Given the description of an element on the screen output the (x, y) to click on. 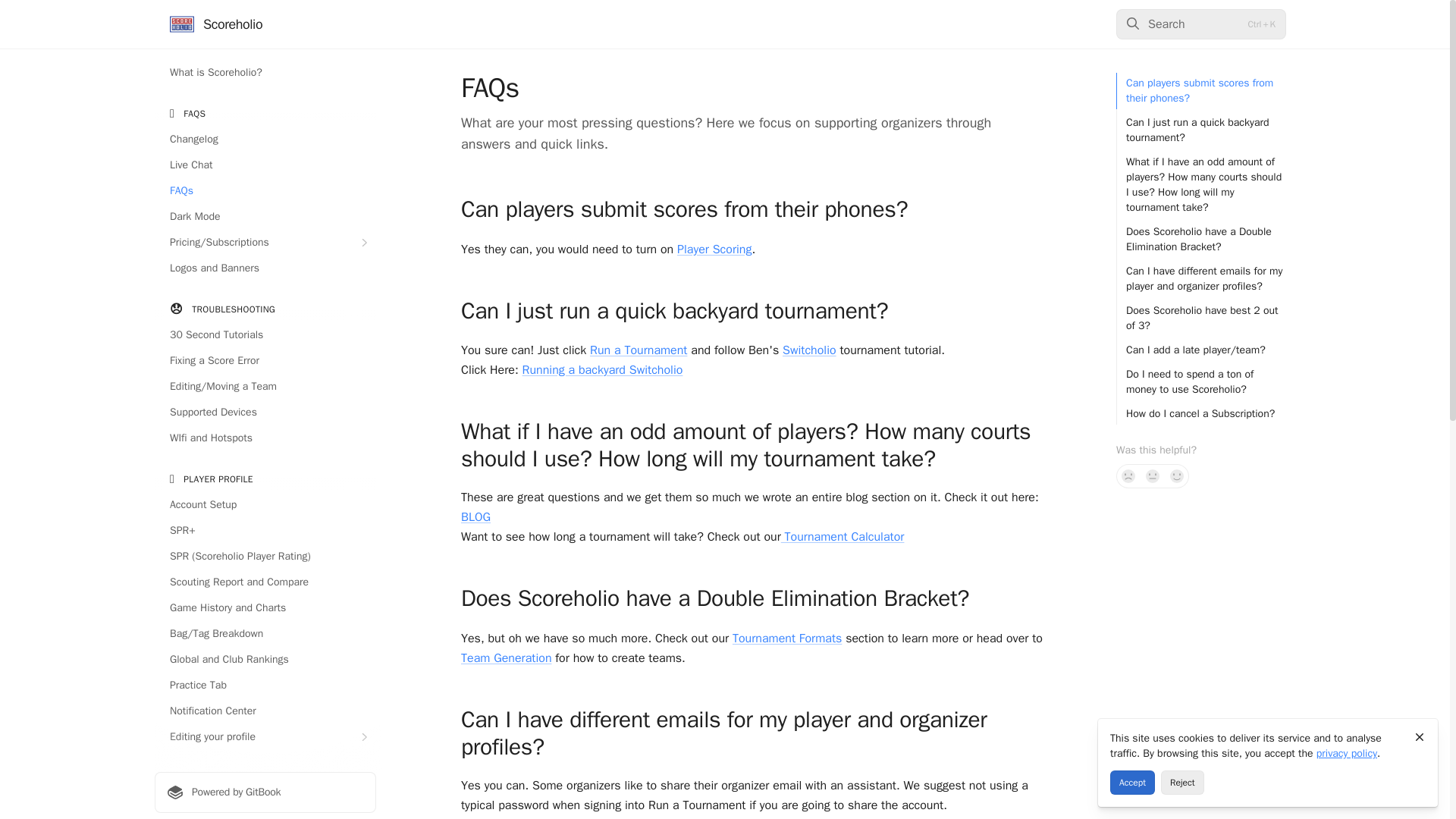
Changelog (264, 139)
No (1128, 476)
Global and Club Rankings (264, 659)
Account Setup (264, 504)
What is Scoreholio? (264, 72)
Practice Tab (264, 685)
FAQs (264, 191)
Scoreholio (216, 24)
Editing your profile (264, 736)
Live Chat (264, 165)
